Given the description of an element on the screen output the (x, y) to click on. 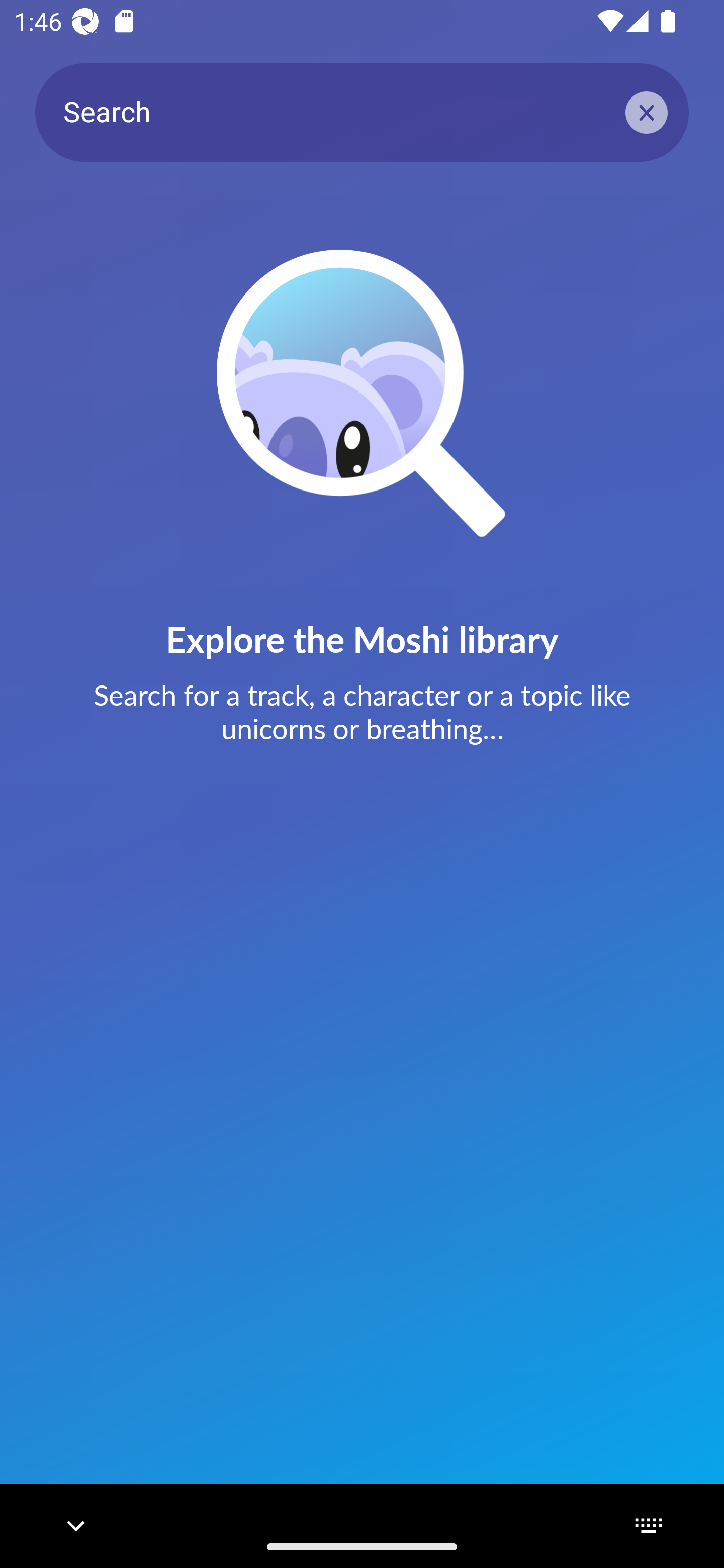
Search (361, 111)
